Given the description of an element on the screen output the (x, y) to click on. 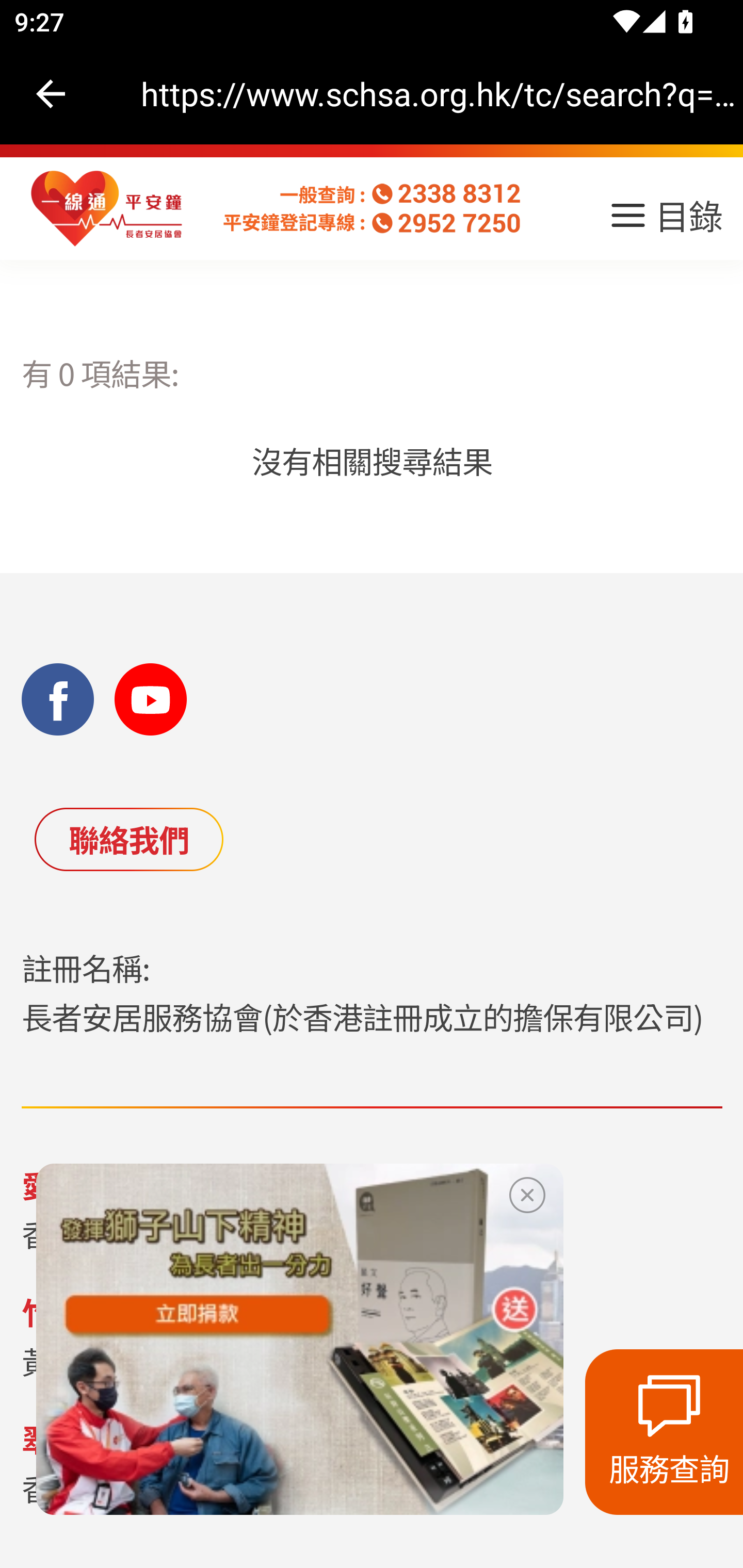
Navigate up (50, 93)
homepage (107, 209)
目錄 (665, 221)
Facebook (58, 698)
YouTube (150, 698)
聯絡我們 (127, 838)
site.close (526, 1191)
服務查詢 (664, 1432)
